Given the description of an element on the screen output the (x, y) to click on. 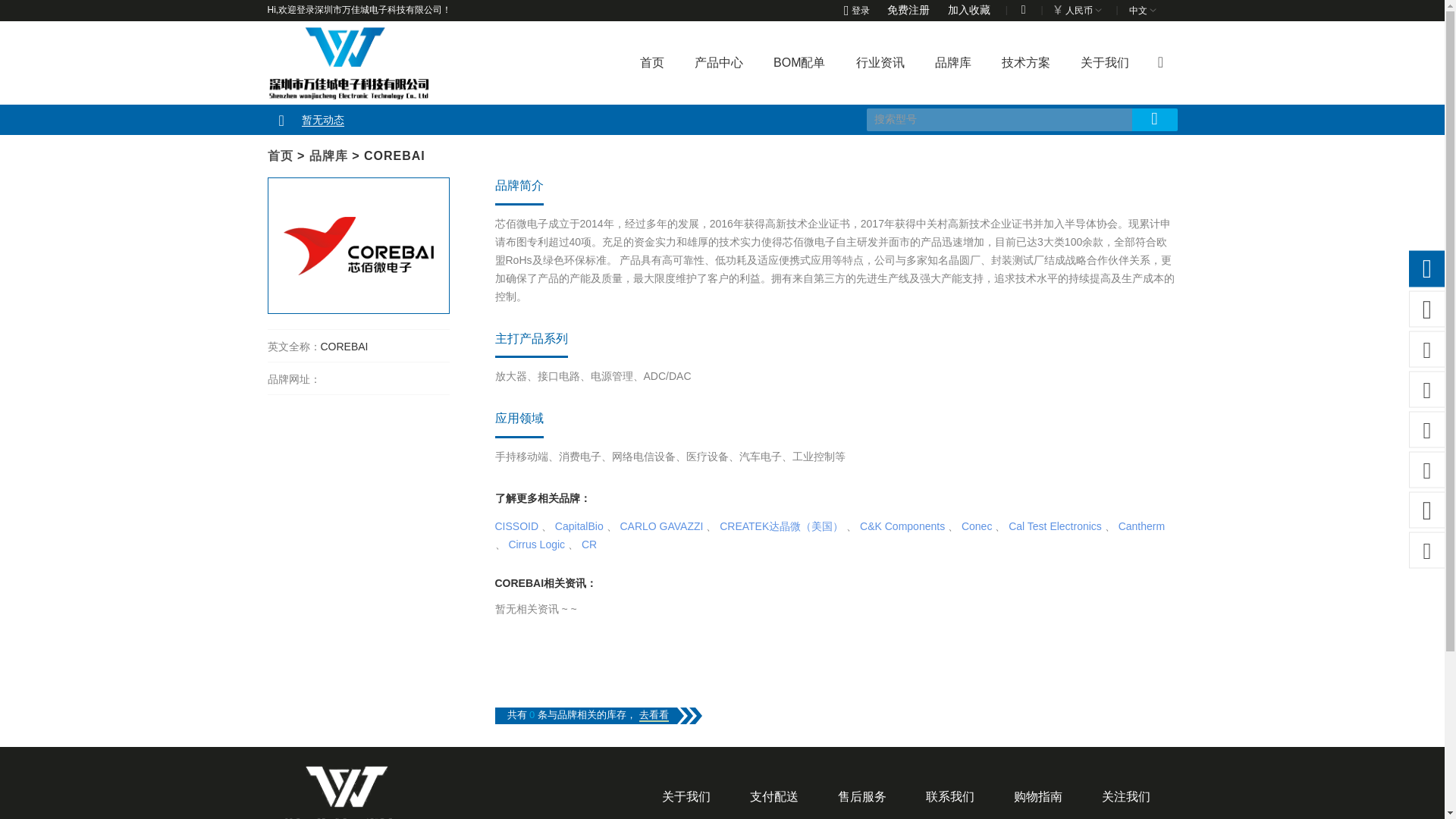
CARLO GAVAZZI (661, 526)
Cantherm (1141, 526)
CISSOID (516, 526)
Cirrus Logic (536, 544)
CapitalBio (579, 526)
CR (588, 544)
Cal Test Electronics (1055, 526)
Conec (975, 526)
